Given the description of an element on the screen output the (x, y) to click on. 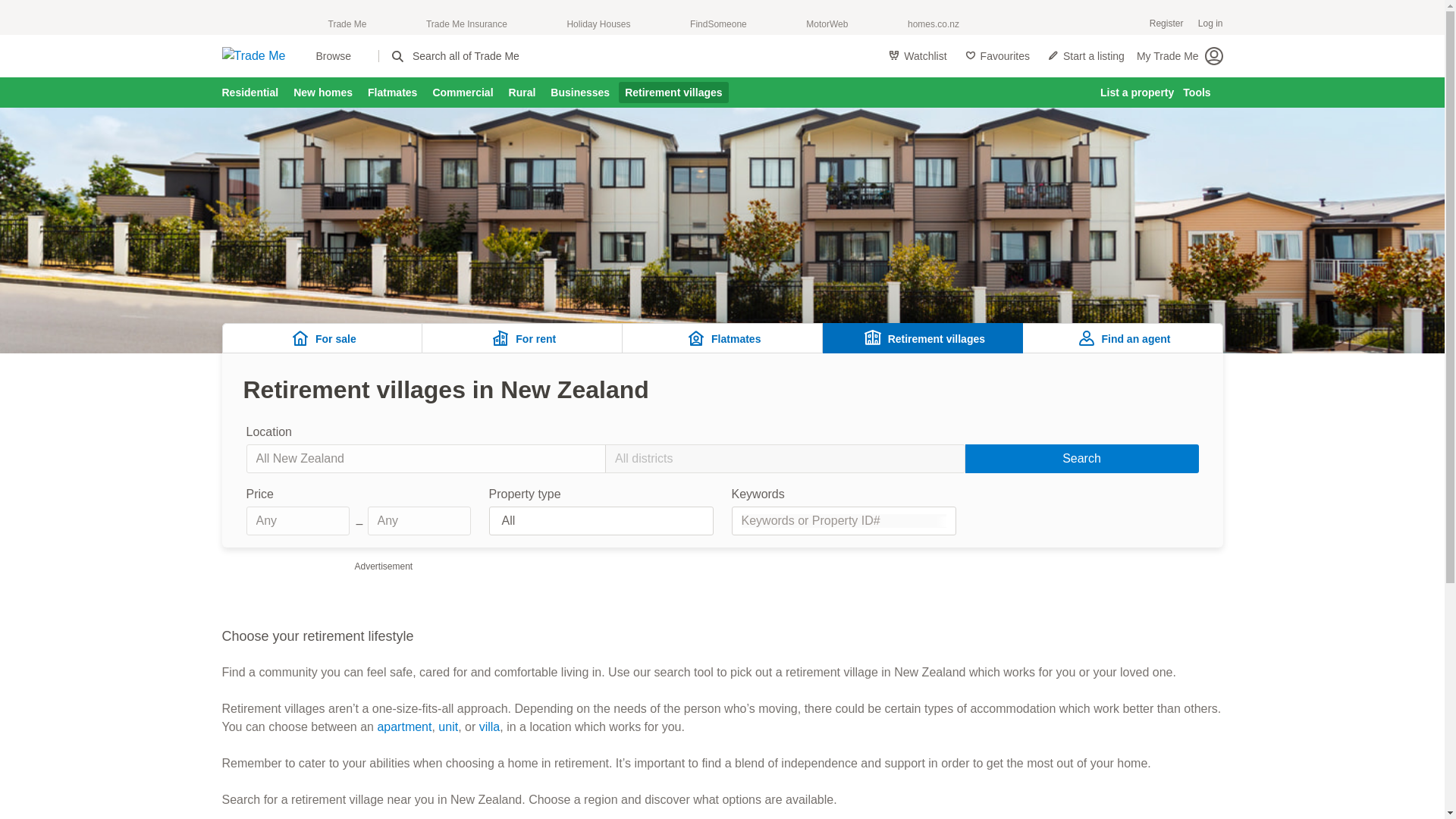
Watchlist (917, 55)
Trade Me (346, 24)
Keywords (842, 510)
MotorWeb (826, 24)
For rent (522, 337)
Flatmates (722, 337)
Profile image for not logged in member (1213, 55)
Retirement villages (922, 337)
FindSomeone (718, 24)
Rural (521, 92)
